Given the description of an element on the screen output the (x, y) to click on. 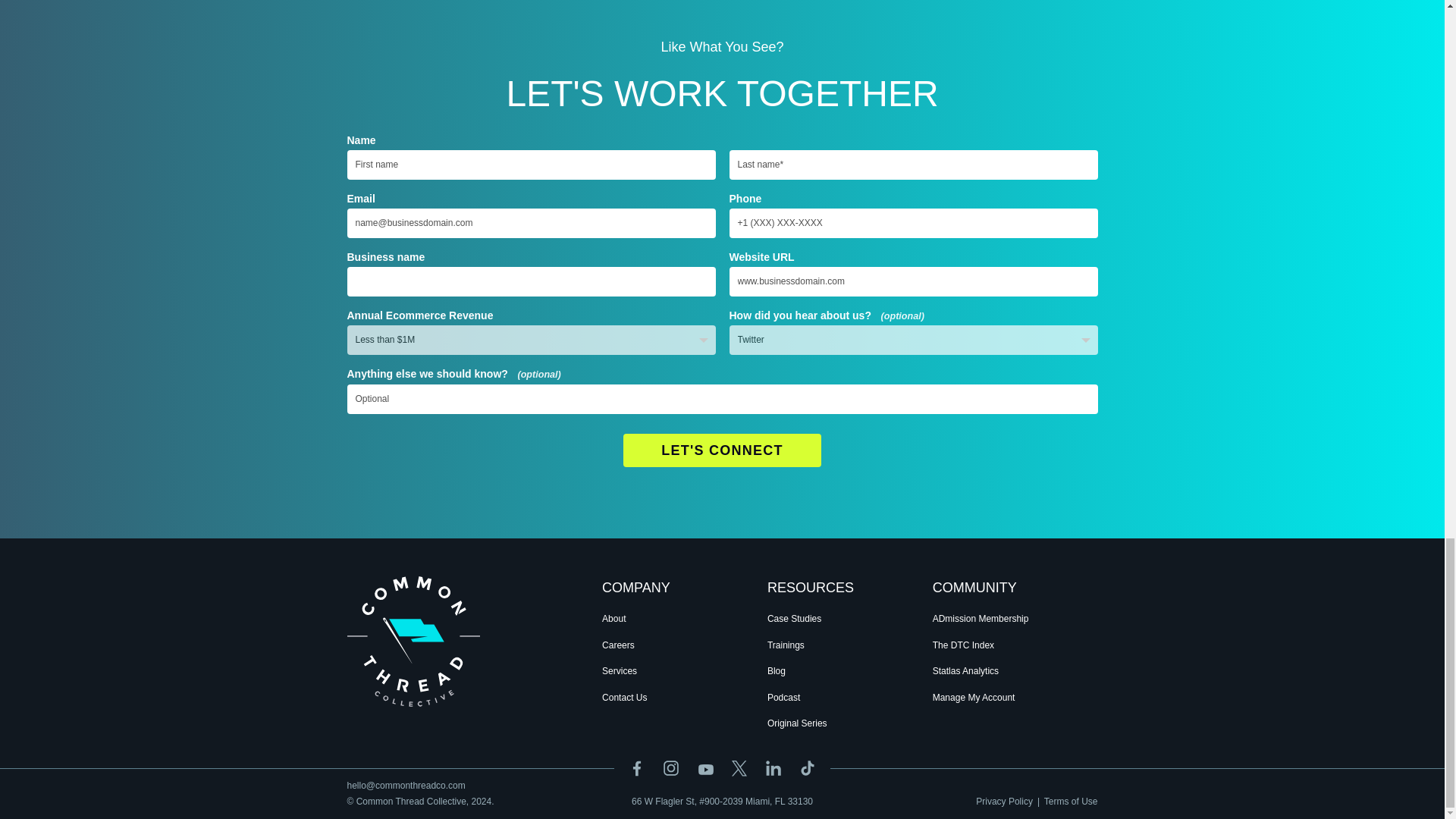
facebook-icon-23 (636, 768)
tiktok-icon-23 (807, 768)
instagram-icon-23 (670, 768)
youtube-icon-23 (705, 769)
linkedin-icon-23 (773, 768)
Let's Connect (722, 450)
